Given the description of an element on the screen output the (x, y) to click on. 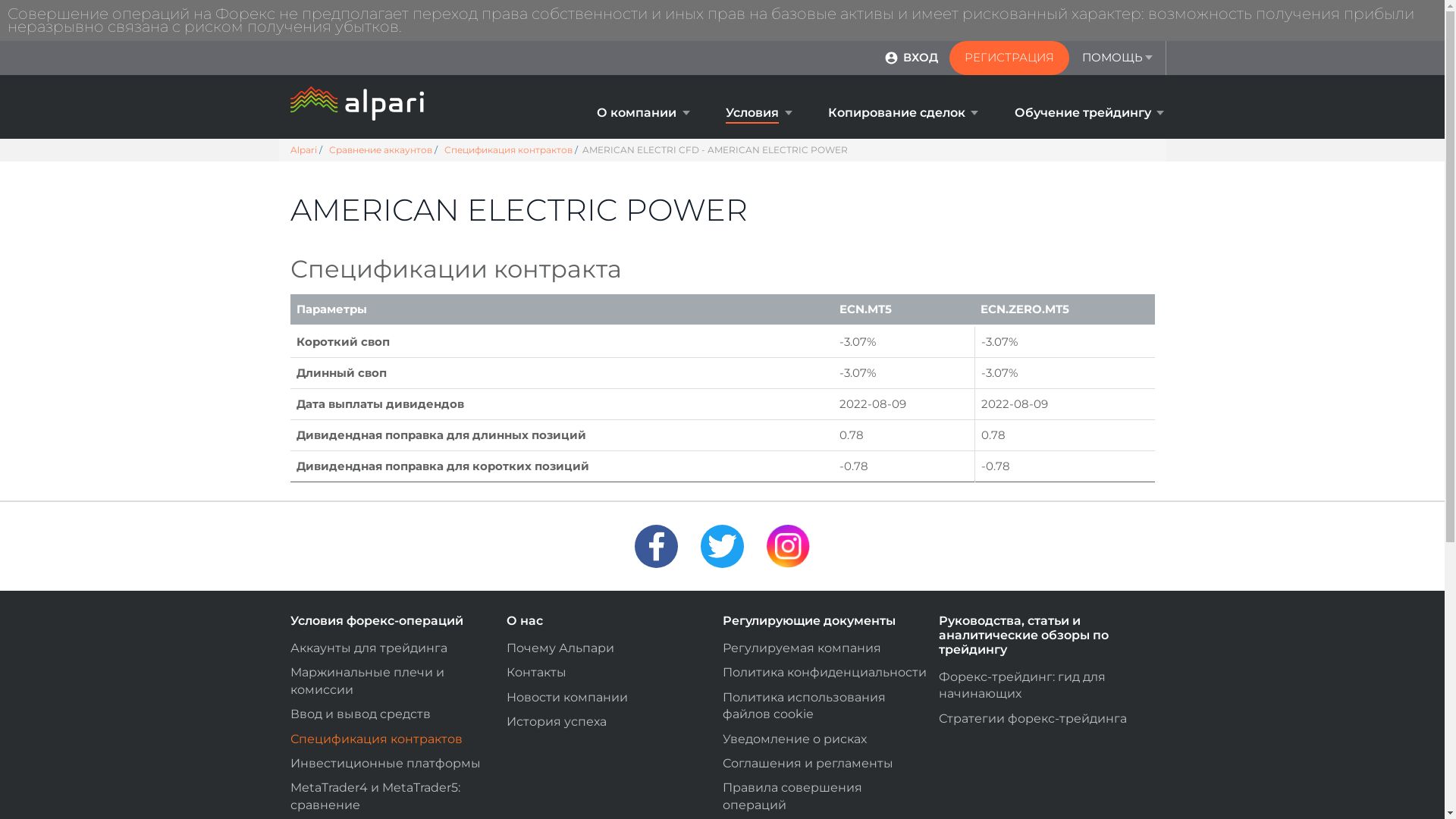
Alpari Element type: text (302, 149)
